Given the description of an element on the screen output the (x, y) to click on. 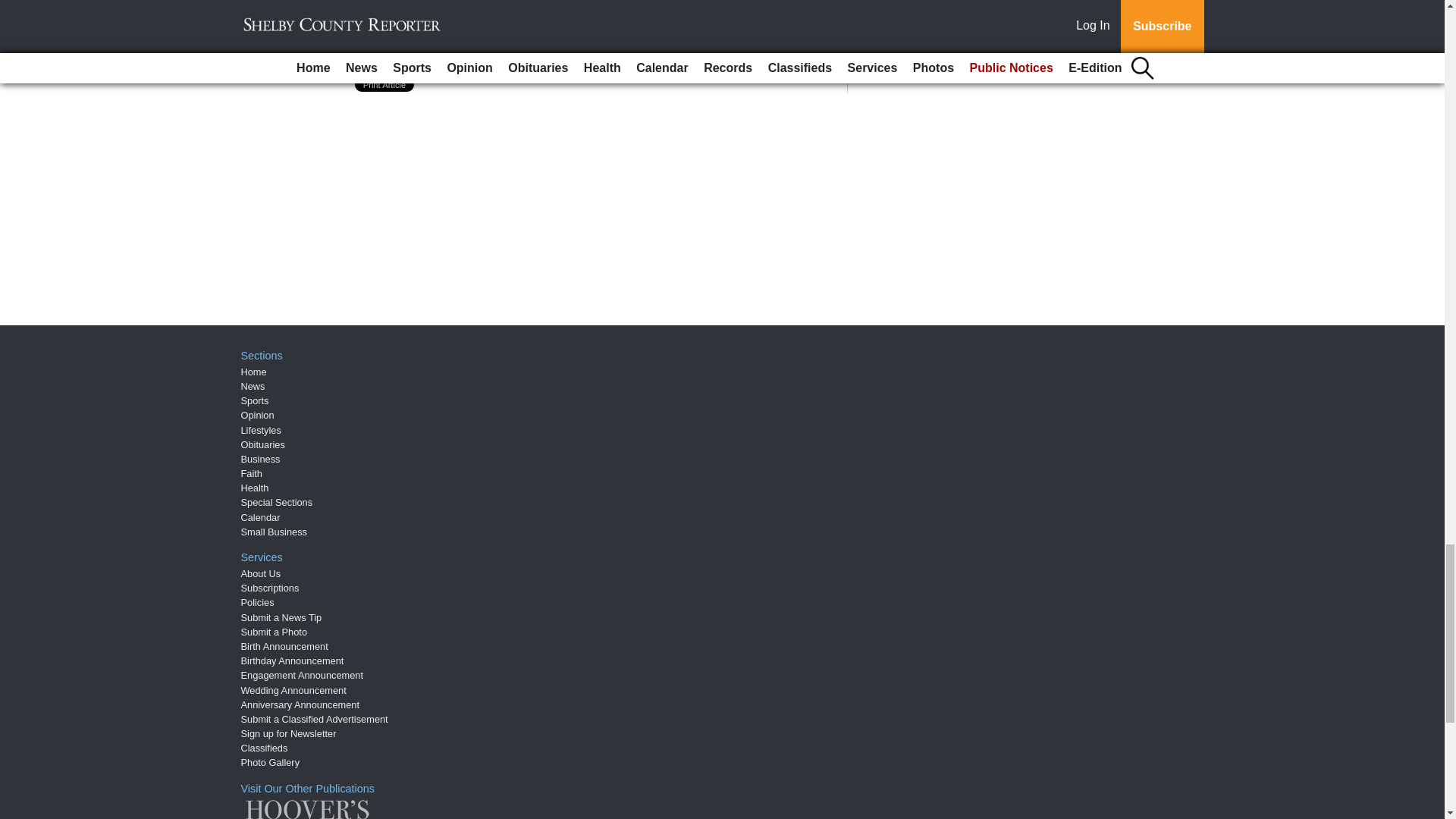
Huskies roll to 4-0 in shutout of Hornets (515, 35)
